Given the description of an element on the screen output the (x, y) to click on. 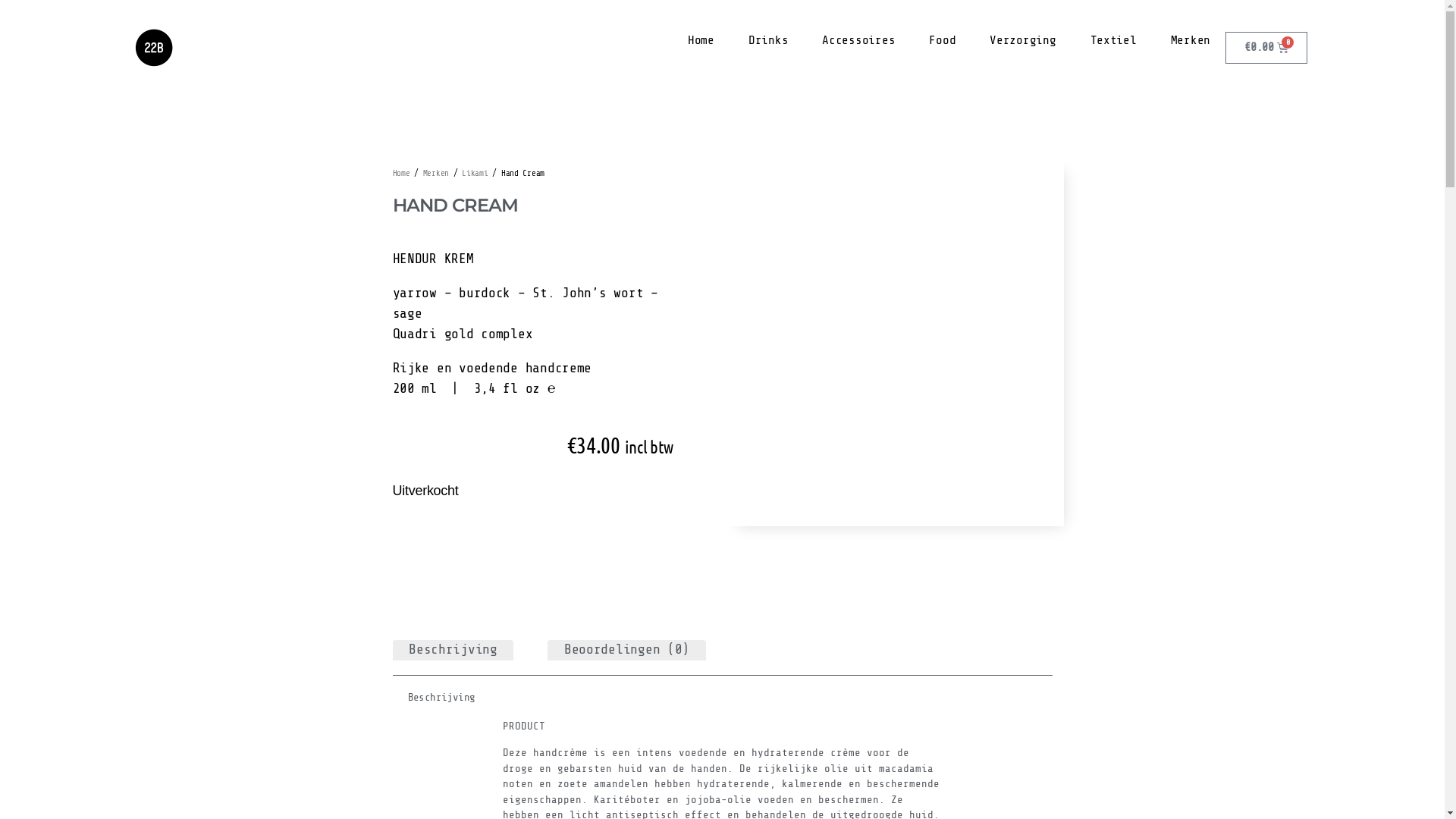
Drinks Element type: text (768, 39)
Verzorging Element type: text (1022, 39)
Merken Element type: text (1190, 39)
Beschrijving Element type: text (453, 649)
Food Element type: text (941, 39)
Textiel Element type: text (1113, 39)
Beoordelingen (0) Element type: text (626, 649)
Home Element type: text (401, 173)
cropped-icon_22b-shop-black.png Element type: hover (153, 47)
Merken Element type: text (435, 173)
Accessoires Element type: text (858, 39)
Likami Element type: text (474, 173)
Home Element type: text (700, 39)
